Given the description of an element on the screen output the (x, y) to click on. 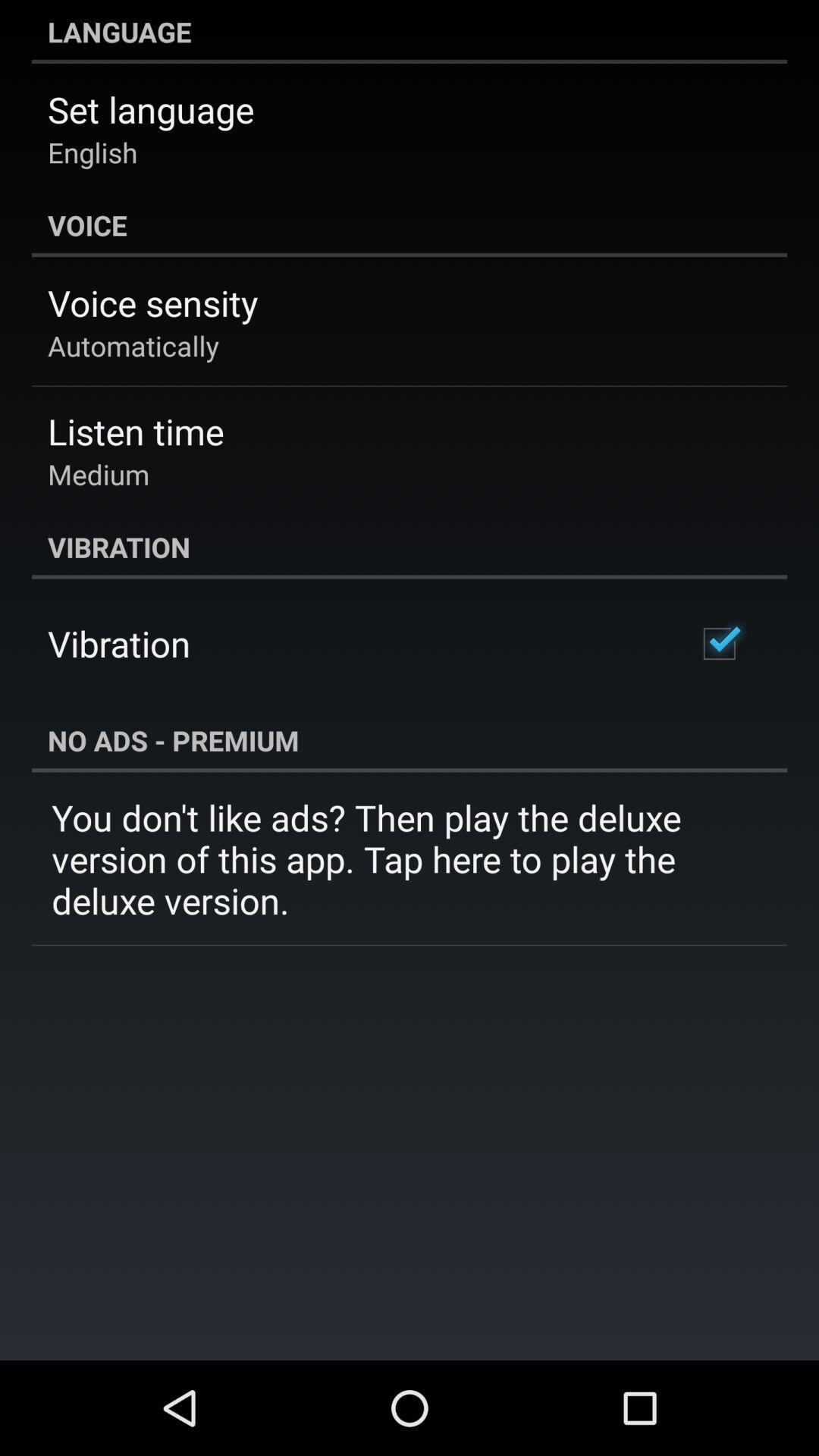
select the voice sensity item (152, 302)
